Given the description of an element on the screen output the (x, y) to click on. 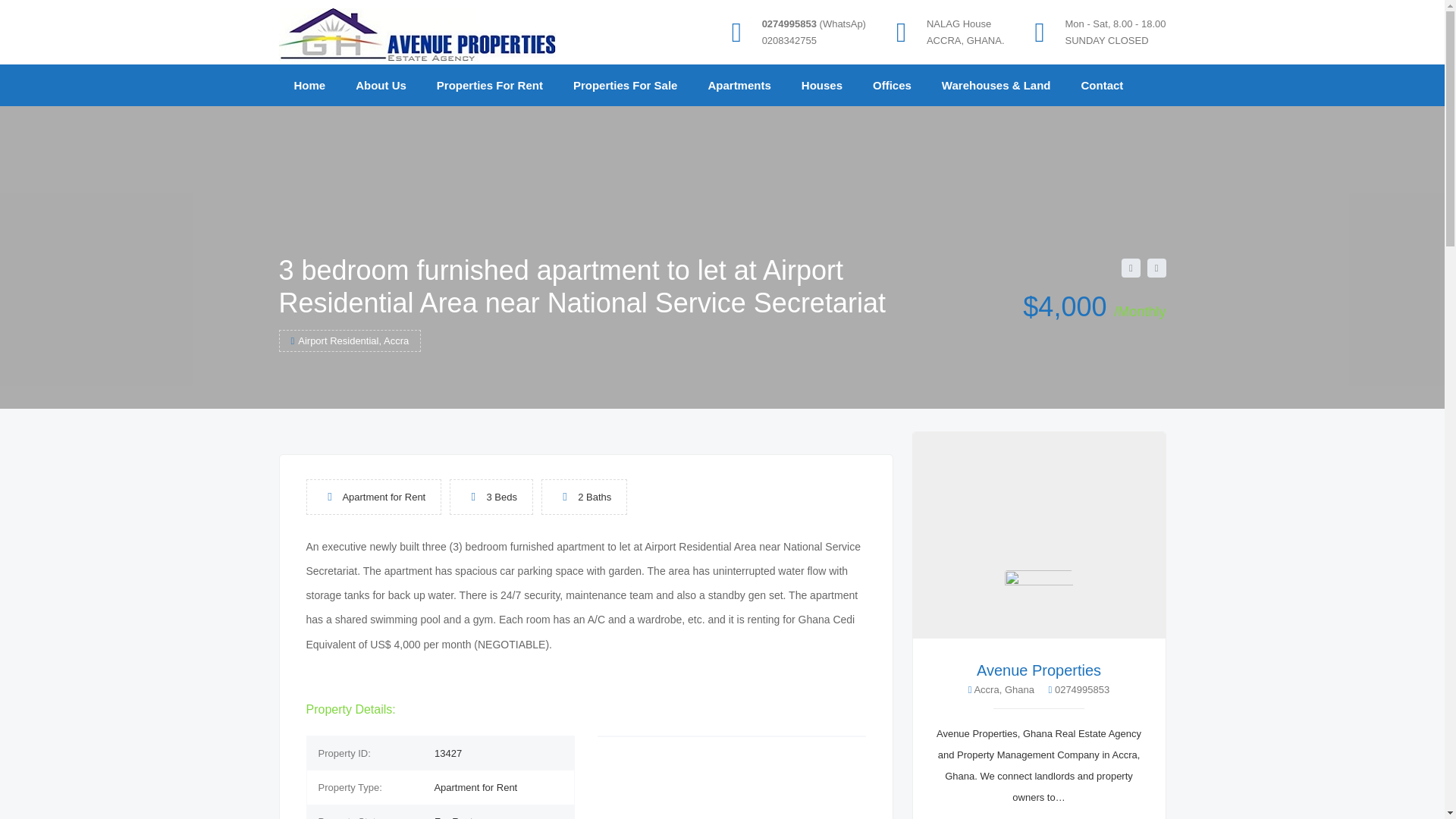
Offices (891, 85)
Home (309, 85)
Houses (821, 85)
Apartments (739, 85)
Properties For Sale (625, 85)
Properties For Rent (489, 85)
About Us (381, 85)
Contact (1101, 85)
Avenue Properties Estate Agents Accra Ghana (381, 85)
